Given the description of an element on the screen output the (x, y) to click on. 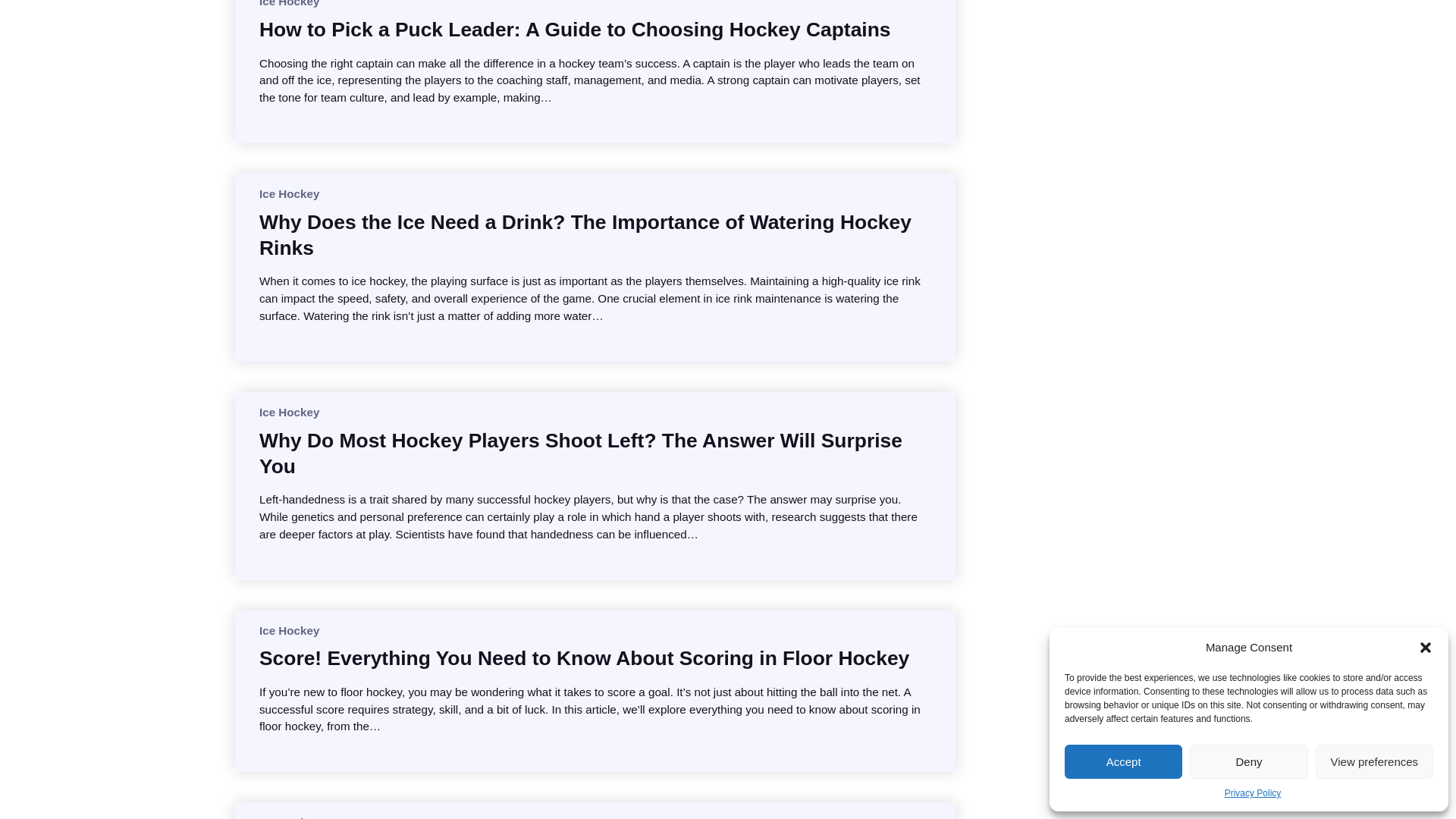
Ice Hockey (288, 630)
Ice Hockey (288, 193)
Ice Hockey (288, 411)
Ice Hockey (288, 3)
Ice Hockey (288, 817)
